Given the description of an element on the screen output the (x, y) to click on. 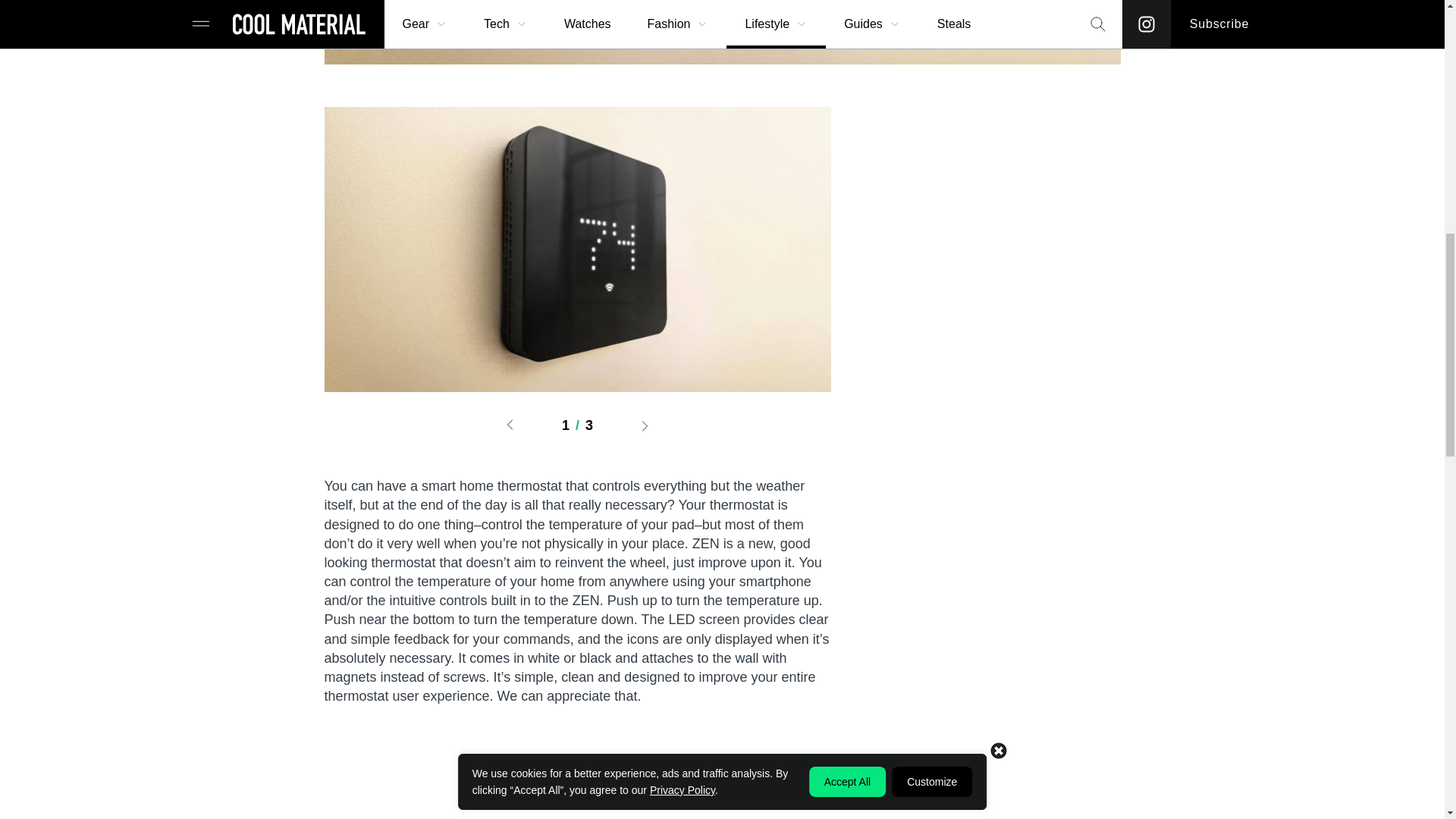
3rd party ad content (1007, 334)
